Given the description of an element on the screen output the (x, y) to click on. 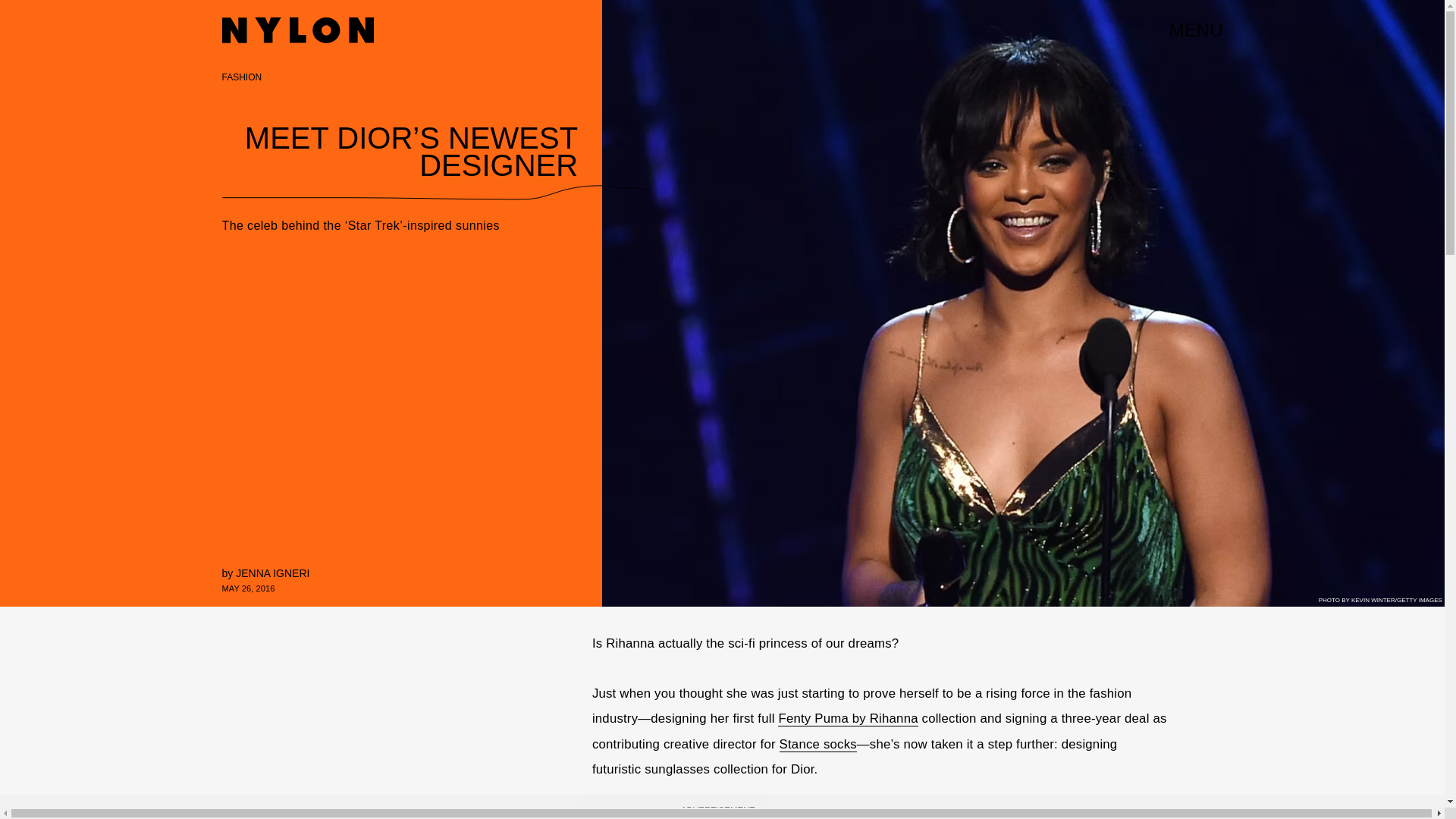
JENNA IGNERI (271, 573)
Stance socks (817, 744)
Fenty Puma by Rihanna (847, 718)
Nylon (296, 30)
